Given the description of an element on the screen output the (x, y) to click on. 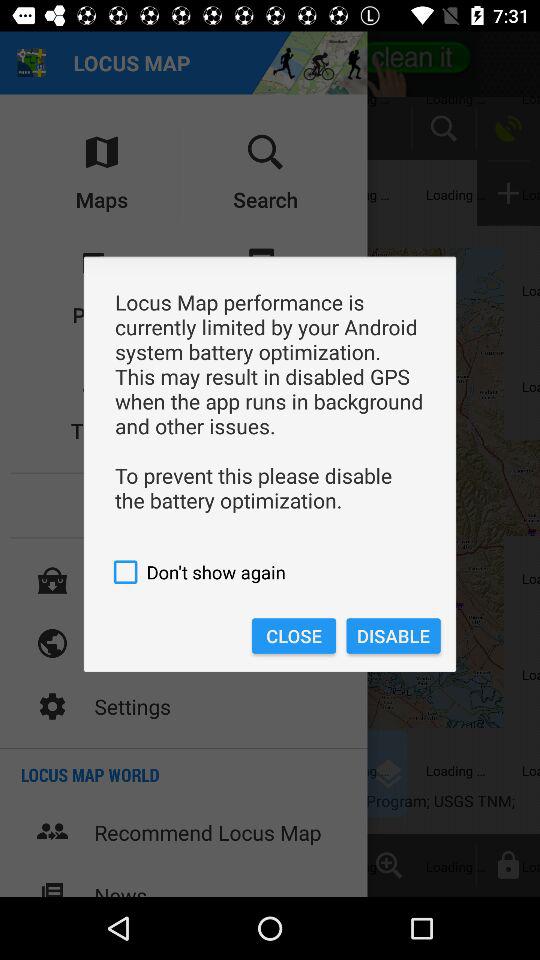
turn off the icon below locus map performance item (269, 572)
